Given the description of an element on the screen output the (x, y) to click on. 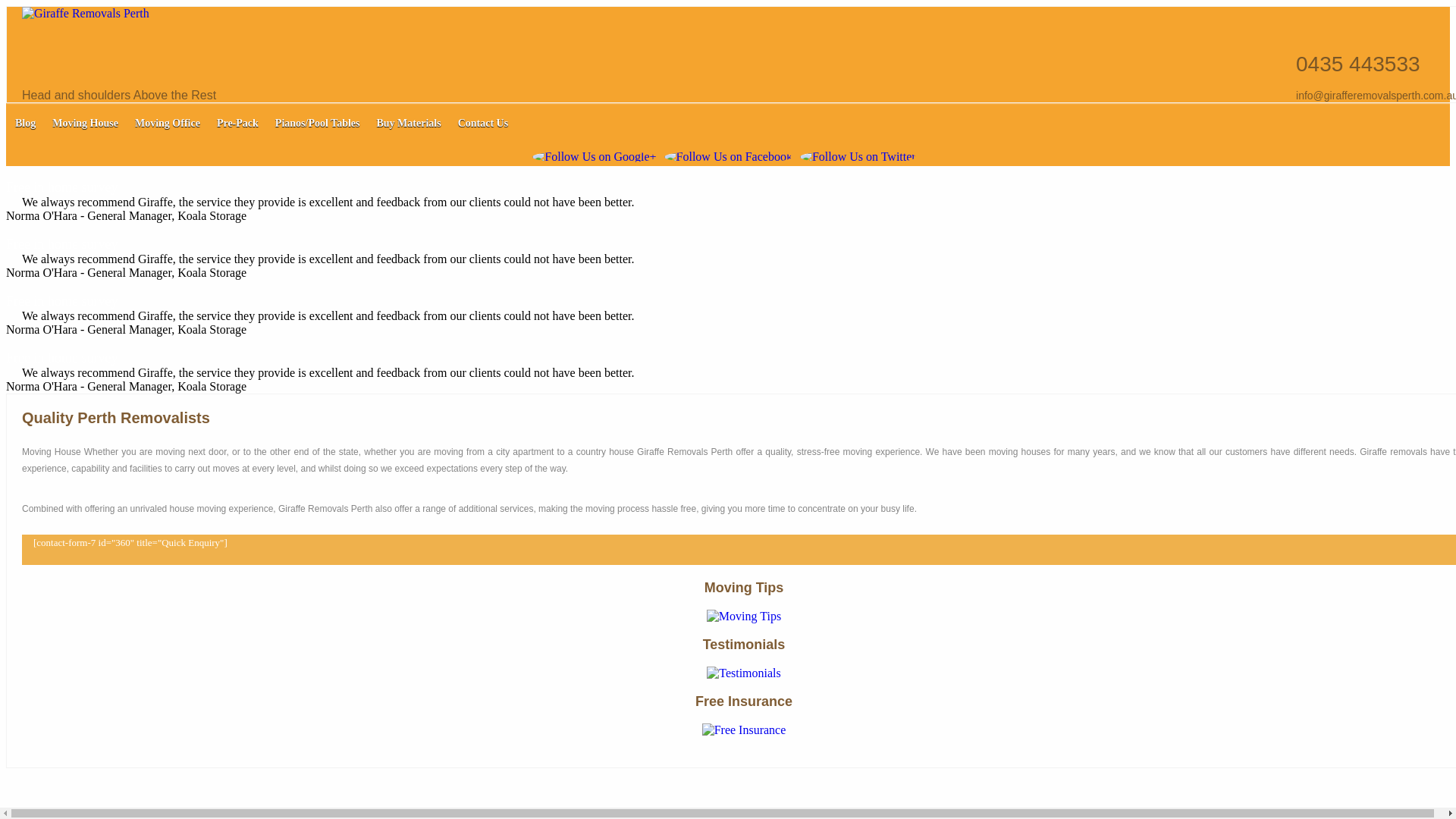
Free Insurance Element type: hover (744, 729)
Buy Materials Element type: text (408, 123)
Moving Office Element type: text (167, 123)
Free in home survey Element type: text (61, 300)
Free in home survey Element type: text (61, 186)
Pianos/Pool Tables Element type: text (317, 123)
Free in home survey Element type: text (61, 243)
Follow Us on Twitter Element type: hover (858, 156)
Blog Element type: text (25, 123)
Moving House Element type: text (85, 123)
Contact Us Element type: text (483, 123)
Pre-Pack Element type: text (237, 123)
Follow Us on Facebook Element type: hover (728, 156)
Free in home survey Element type: text (61, 357)
Moving Tips  Element type: hover (743, 615)
Please Follow us  Element type: hover (593, 156)
Testimonials Element type: hover (743, 672)
